Given the description of an element on the screen output the (x, y) to click on. 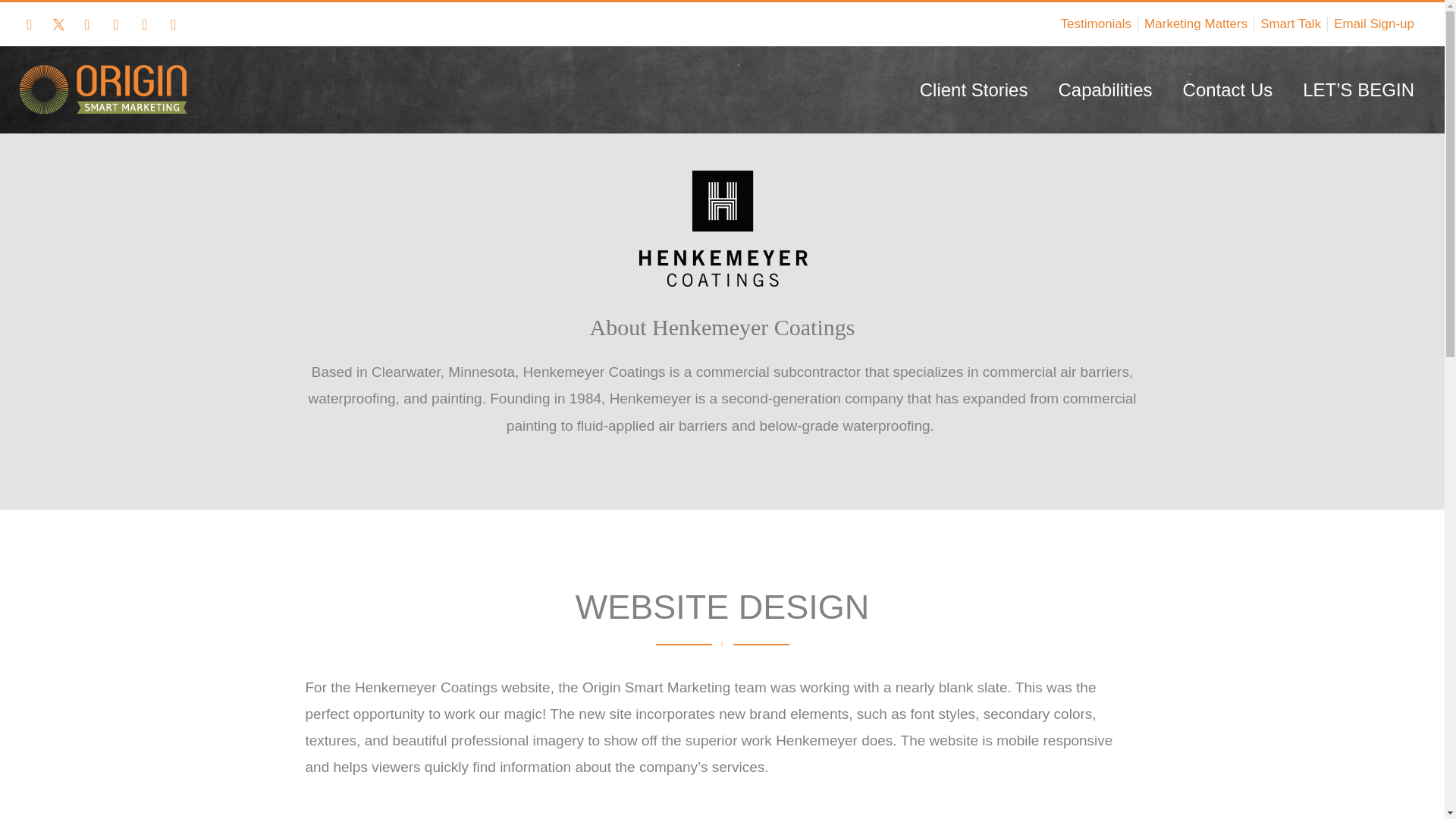
Marketing Matters (1195, 24)
Instagram (116, 23)
Email Sign-up (1373, 24)
Twitter X Black Logo (57, 23)
Smart Talk (1290, 24)
Testimonials (1096, 24)
Client Stories (973, 89)
Capabilities (1104, 89)
Linkedin (172, 23)
Facebook (28, 23)
